Given the description of an element on the screen output the (x, y) to click on. 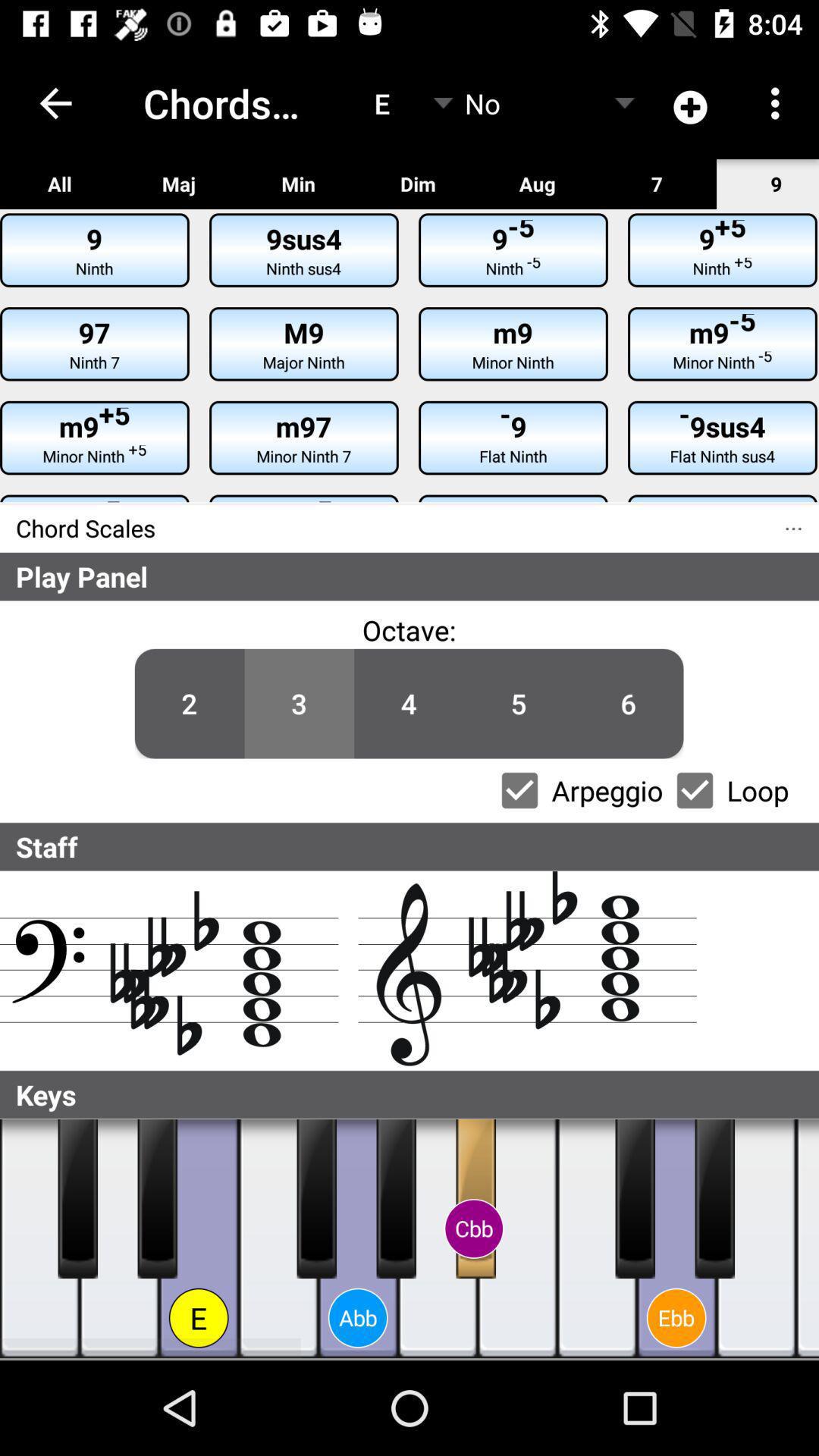
click to play music note (119, 1238)
